Given the description of an element on the screen output the (x, y) to click on. 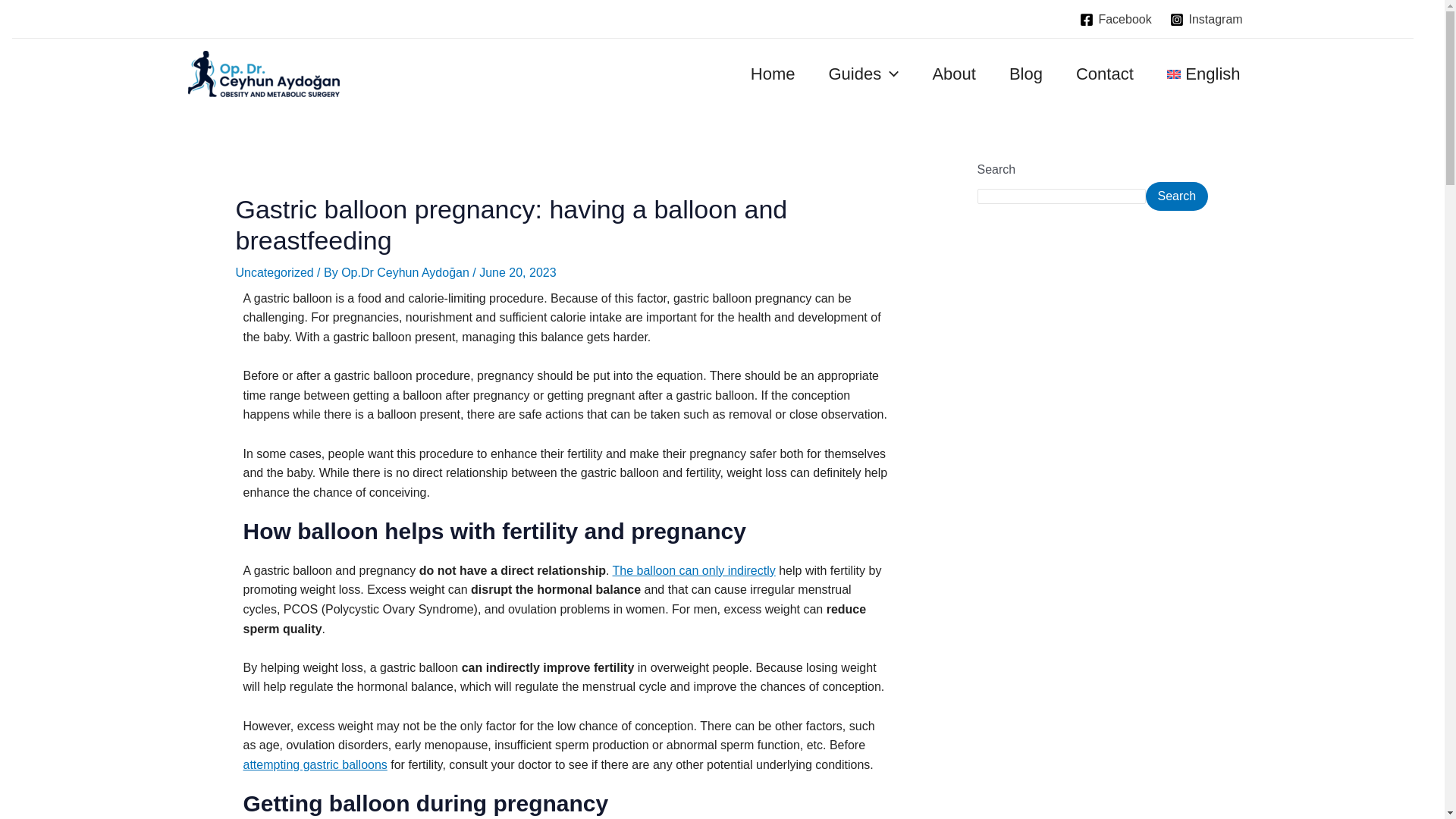
Uncategorized (273, 272)
Contact (1104, 74)
attempting gastric balloons (315, 764)
Search (1176, 195)
The balloon can only indirectly (694, 570)
Guides (862, 74)
Home (772, 74)
English (1203, 74)
About (953, 74)
Facebook (1115, 19)
